Given the description of an element on the screen output the (x, y) to click on. 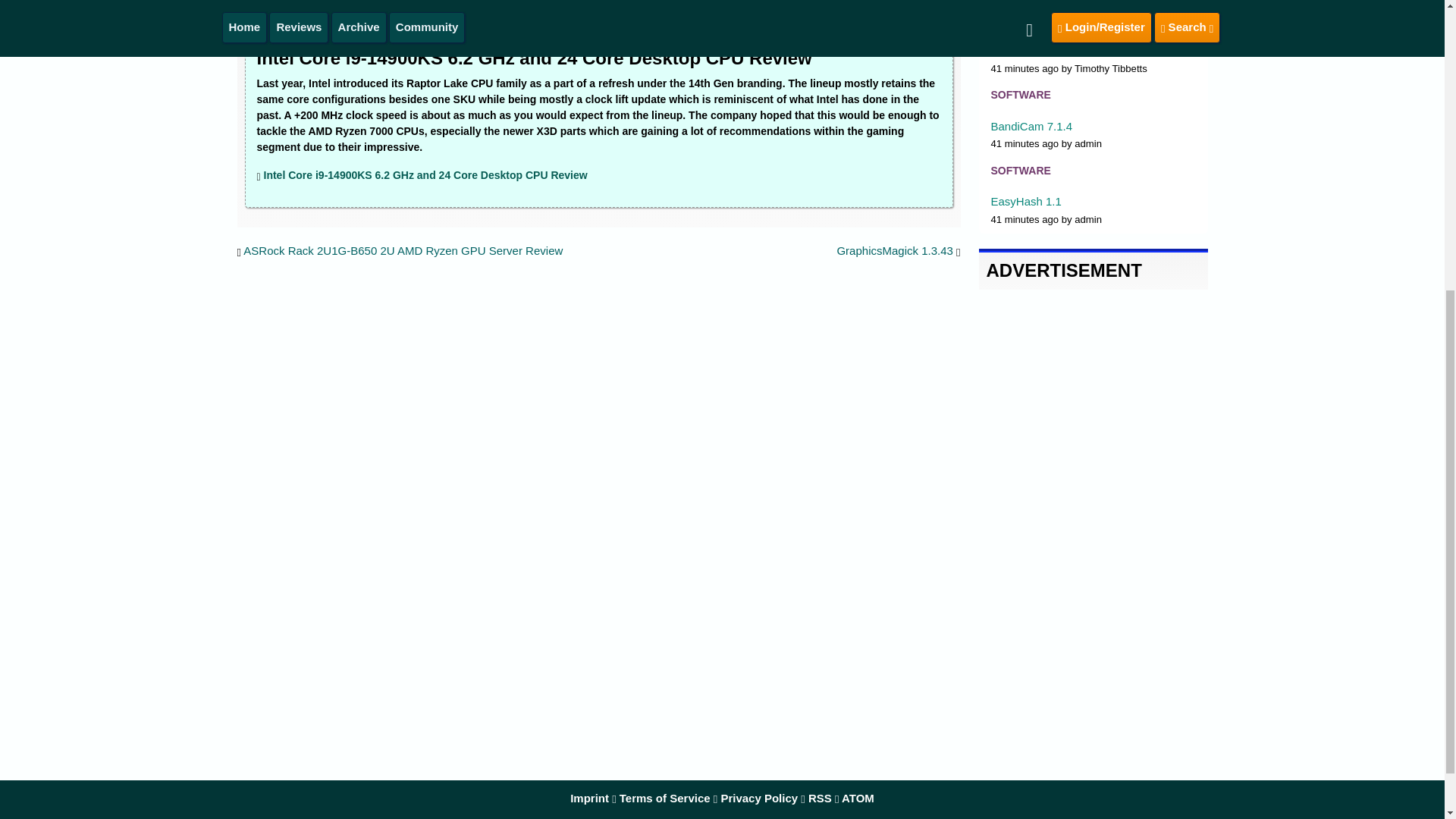
SOFTWARE (1019, 19)
Intel Core i9-14900KS 6.2 GHz and 24 Core Desktop CPU Review (425, 174)
Wise Care 365 7.0.2.682 (1053, 50)
Privacy Policy (758, 797)
SOFTWARE (1019, 170)
Terms of Service (665, 797)
BandiCam 7.1.4 (1030, 125)
Imprint (589, 797)
ASRock Rack 2U1G-B650 2U AMD Ryzen GPU Server Review (402, 250)
GraphicsMagick 1.3.43 (893, 250)
